Given the description of an element on the screen output the (x, y) to click on. 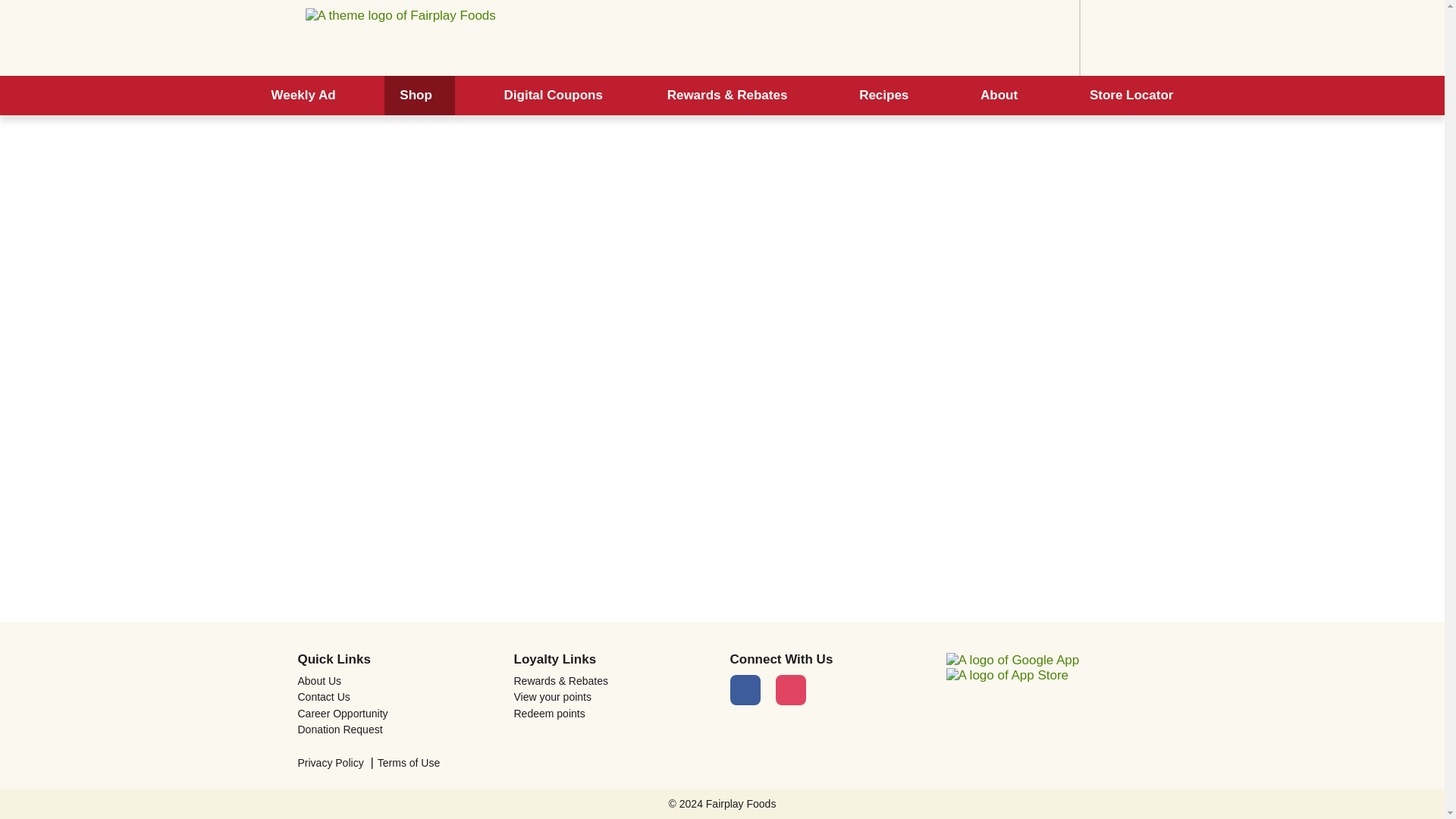
Weekly Ad (303, 95)
Career Opportunity (397, 713)
Store Locator (1131, 95)
Recipes (887, 95)
Digital Coupons (553, 95)
Donation Request (397, 729)
About (1003, 95)
Contact Us (397, 696)
About Us (397, 680)
Shop (419, 95)
